Given the description of an element on the screen output the (x, y) to click on. 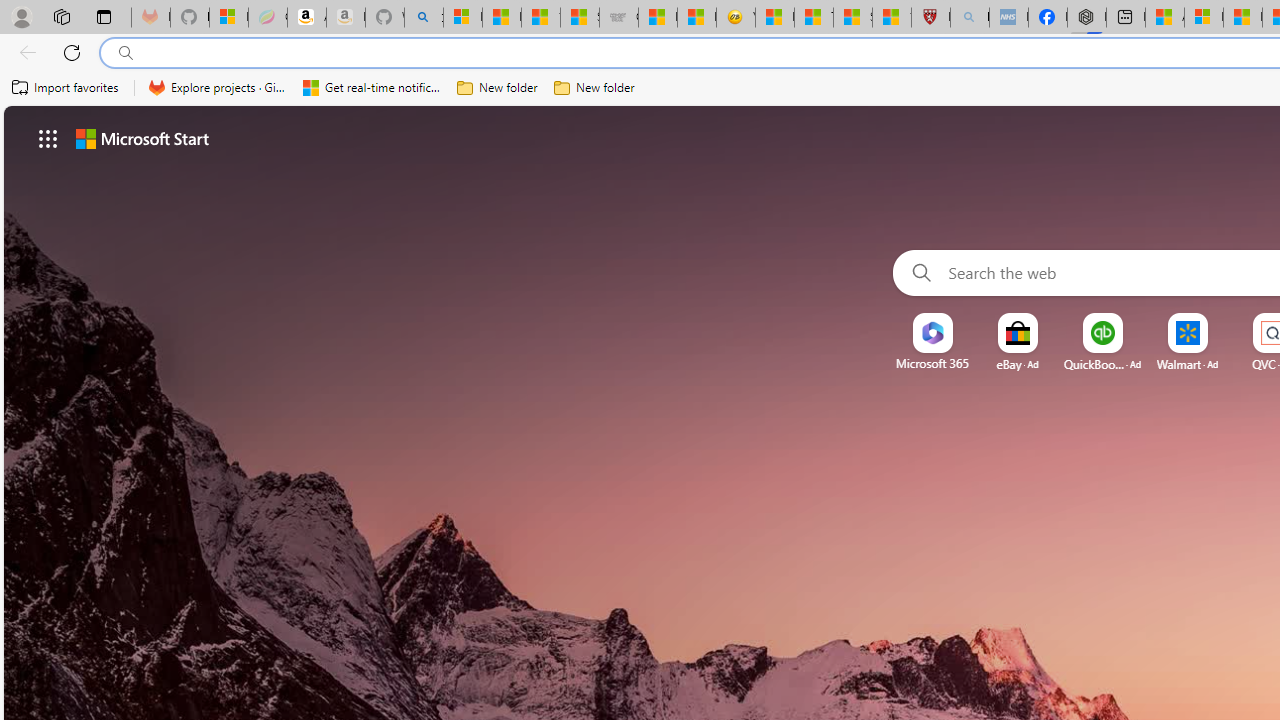
Combat Siege (618, 17)
Recipes - MSN (774, 17)
Stocks - MSN (579, 17)
